Given the description of an element on the screen output the (x, y) to click on. 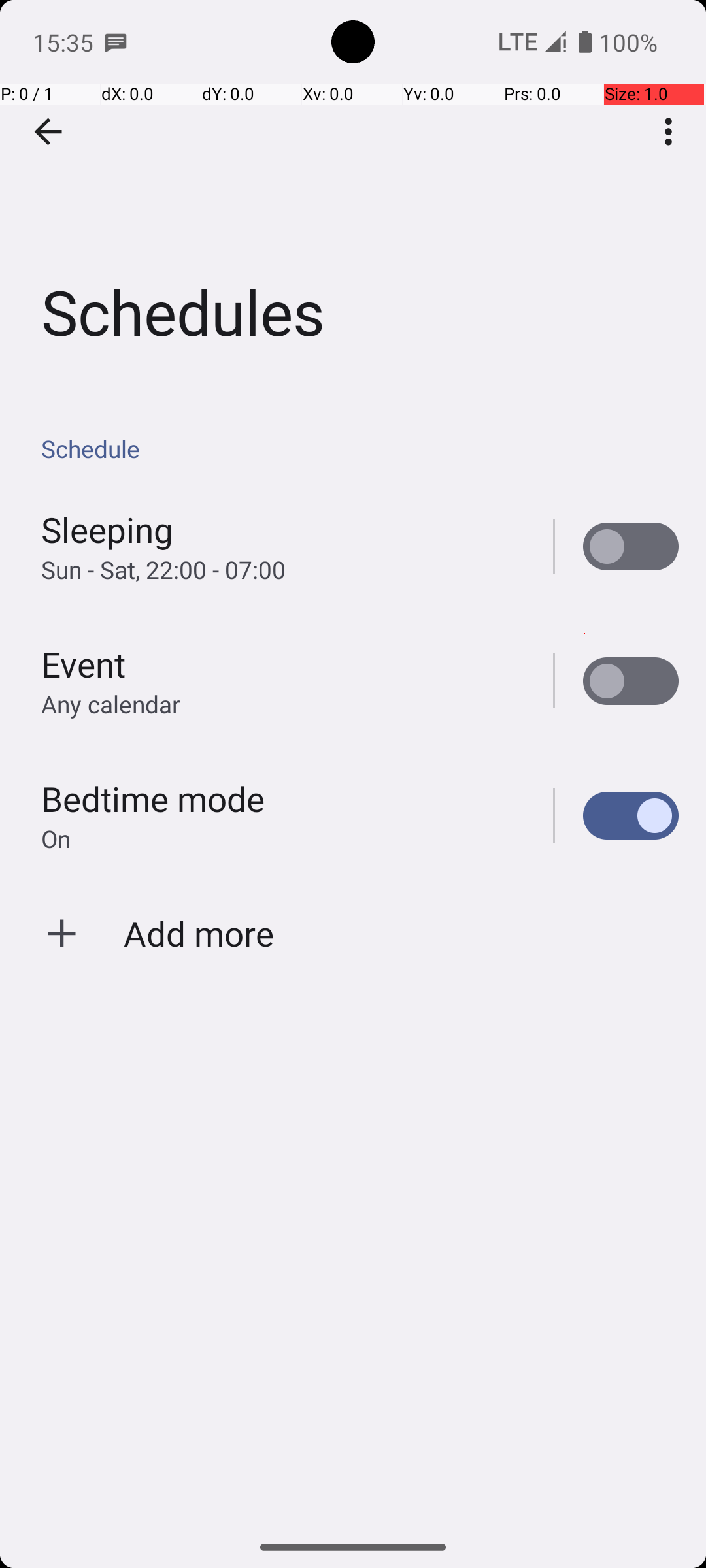
Schedules Element type: android.widget.FrameLayout (353, 195)
Schedule Element type: android.widget.TextView (359, 448)
Sleeping Element type: android.widget.TextView (107, 529)
Sun - Sat, 22:00 - 07:00 Element type: android.widget.TextView (163, 569)
Any calendar Element type: android.widget.TextView (110, 703)
Bedtime mode Element type: android.widget.TextView (152, 798)
Add more Element type: android.widget.TextView (198, 933)
